Given the description of an element on the screen output the (x, y) to click on. 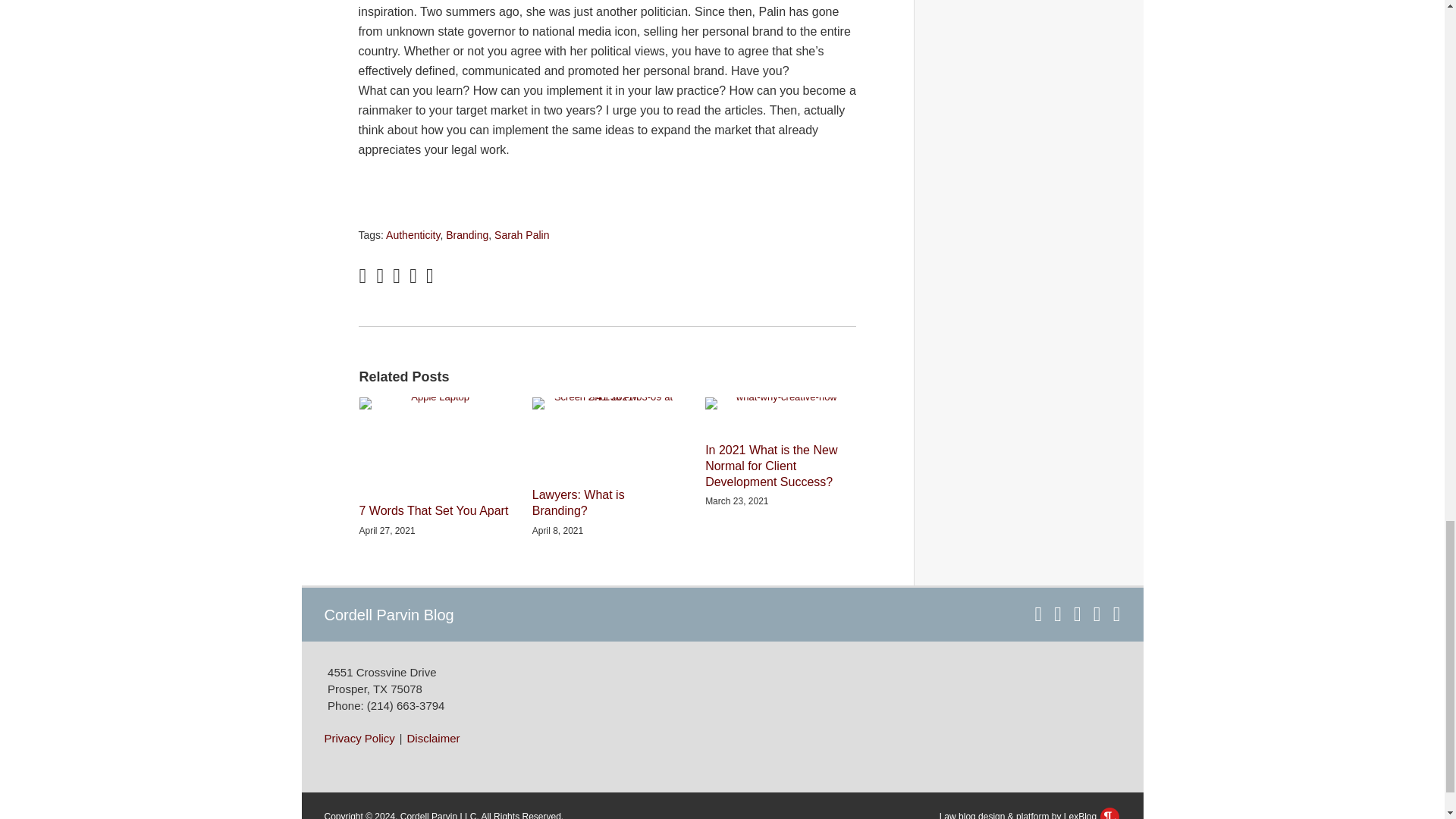
Sarah Palin (521, 234)
Email this post (379, 276)
Authenticity (412, 234)
Tweet this post (396, 276)
Print: (362, 275)
Share this post on LinkedIn (429, 276)
Branding (466, 234)
Like this post (412, 276)
7 Words That Set You Apart (433, 511)
Lawyers: What is Branding? (607, 503)
